Given the description of an element on the screen output the (x, y) to click on. 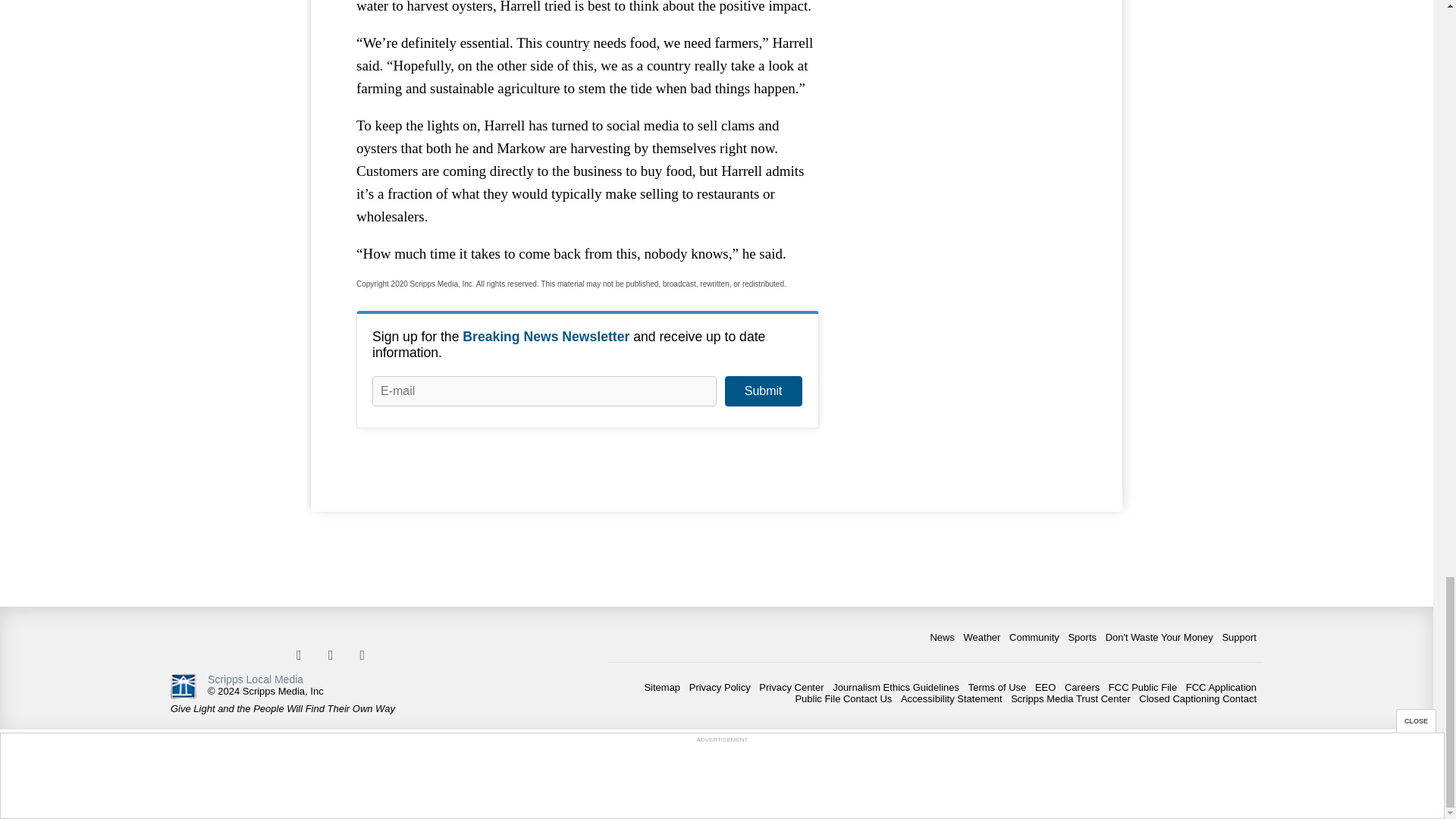
Submit (763, 390)
